Given the description of an element on the screen output the (x, y) to click on. 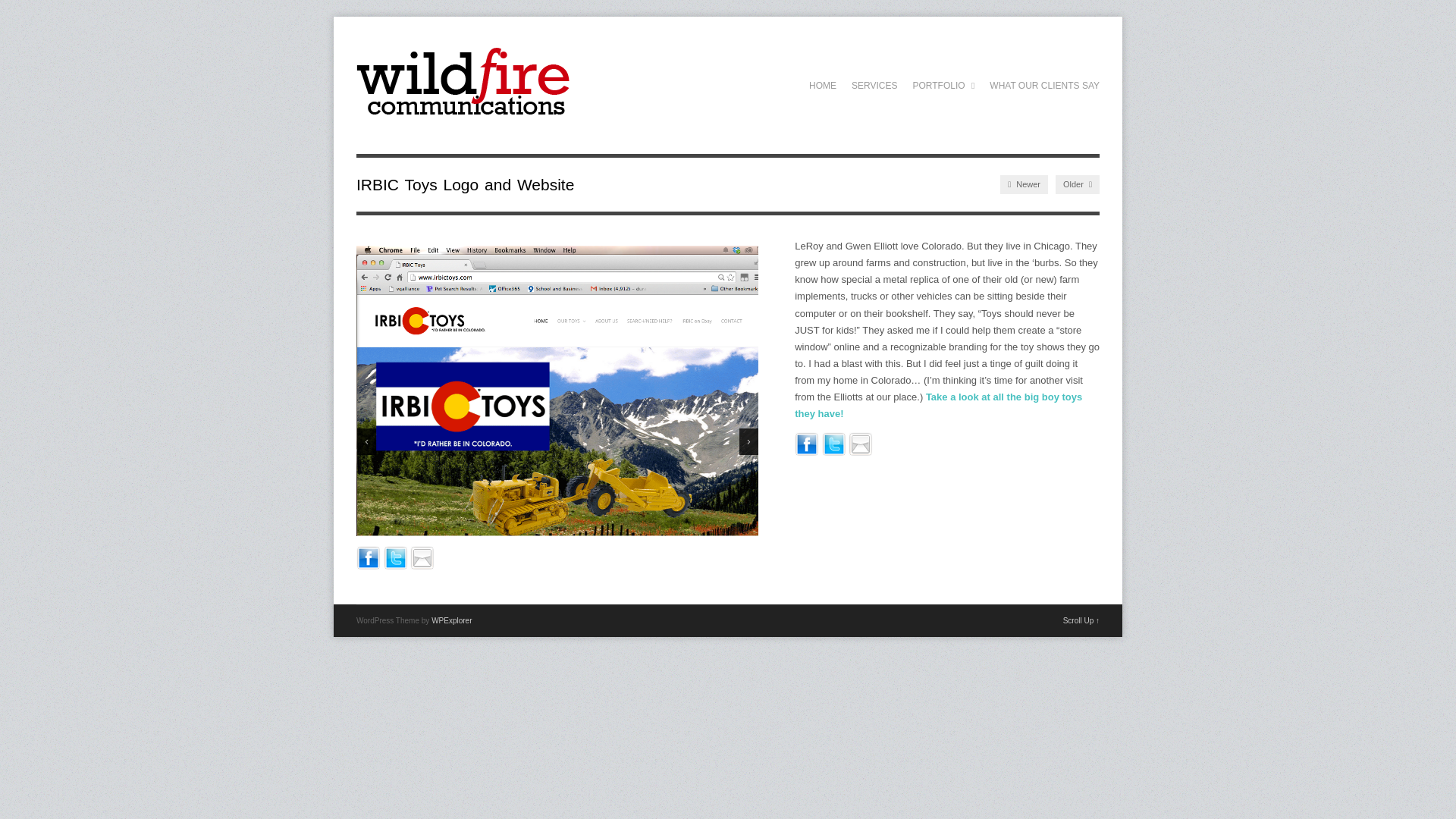
Email (421, 556)
Email (860, 443)
Twitter (833, 443)
Older (1077, 184)
WHAT OUR CLIENTS SAY (1043, 85)
Wildfire Communications (462, 117)
WPExplorer Premium WordPress Themes (450, 620)
Twitter (395, 556)
WPExplorer (450, 620)
Scroll Up (1080, 620)
